Given the description of an element on the screen output the (x, y) to click on. 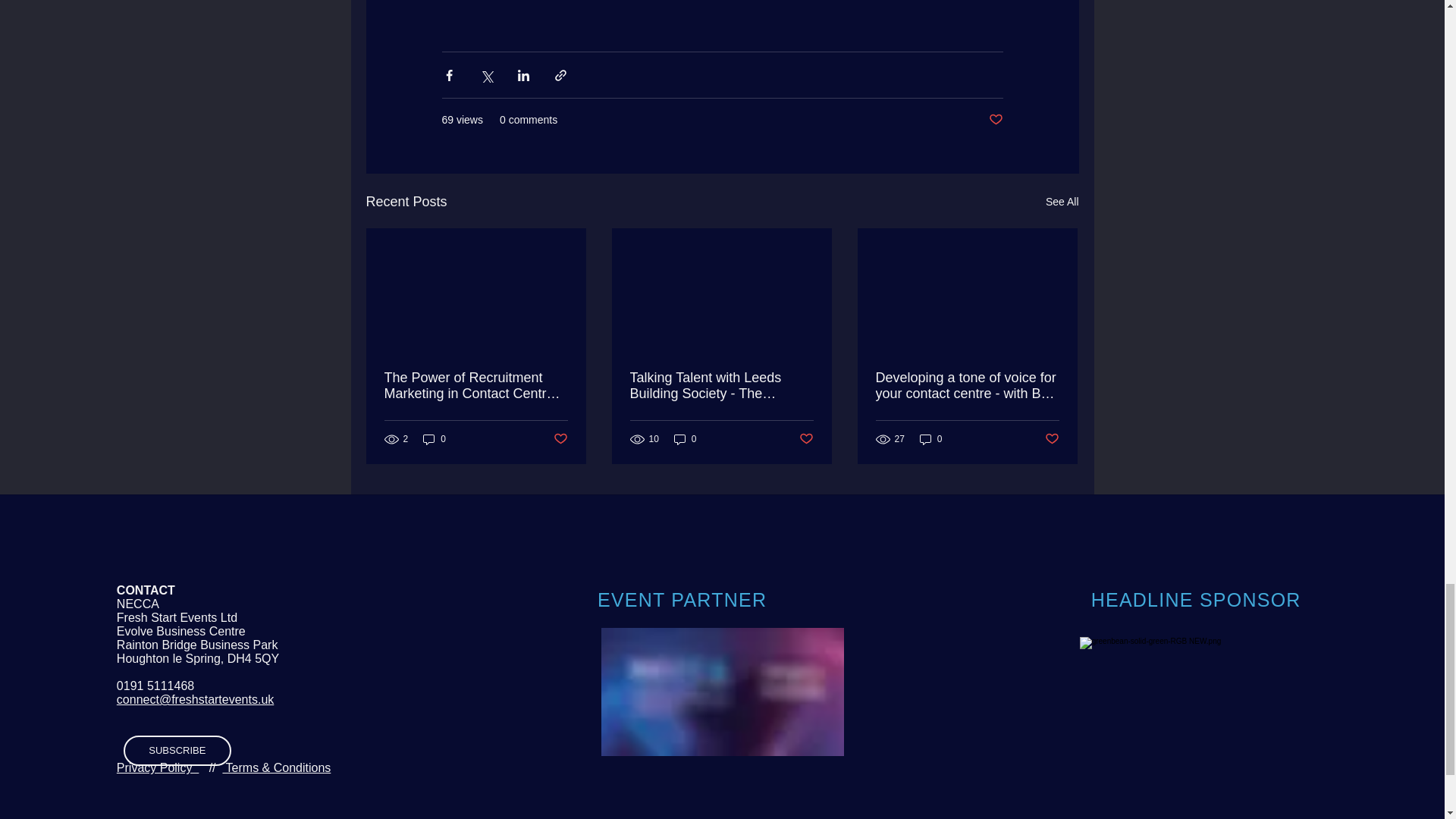
0 (685, 439)
Post not marked as liked (1052, 439)
SUBSCRIBE (177, 750)
Privacy Policy   (157, 767)
Post not marked as liked (995, 119)
0 (930, 439)
Post not marked as liked (560, 439)
0 (434, 439)
See All (1061, 201)
Post not marked as liked (806, 439)
